Given the description of an element on the screen output the (x, y) to click on. 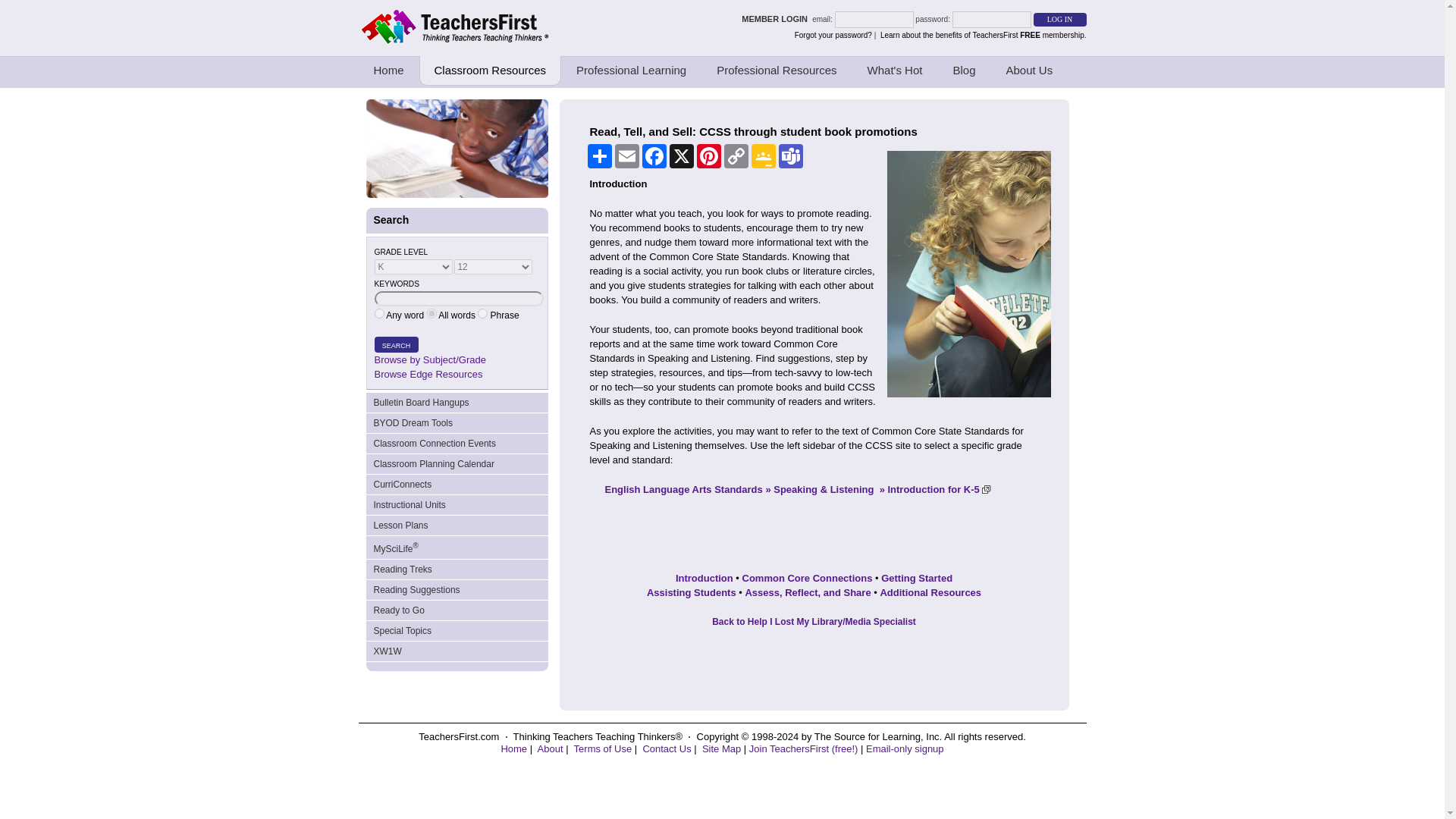
Facebook (653, 156)
Lesson Plans (456, 525)
Browse Edge Resources (428, 374)
BYOD Dream Tools (456, 423)
Ready to Go (456, 610)
Learn about the benefits of TeachersFirst FREE membership. (983, 35)
Introduction (704, 577)
Instructional Units (456, 505)
all (431, 313)
Forgot your password? (833, 35)
